Given the description of an element on the screen output the (x, y) to click on. 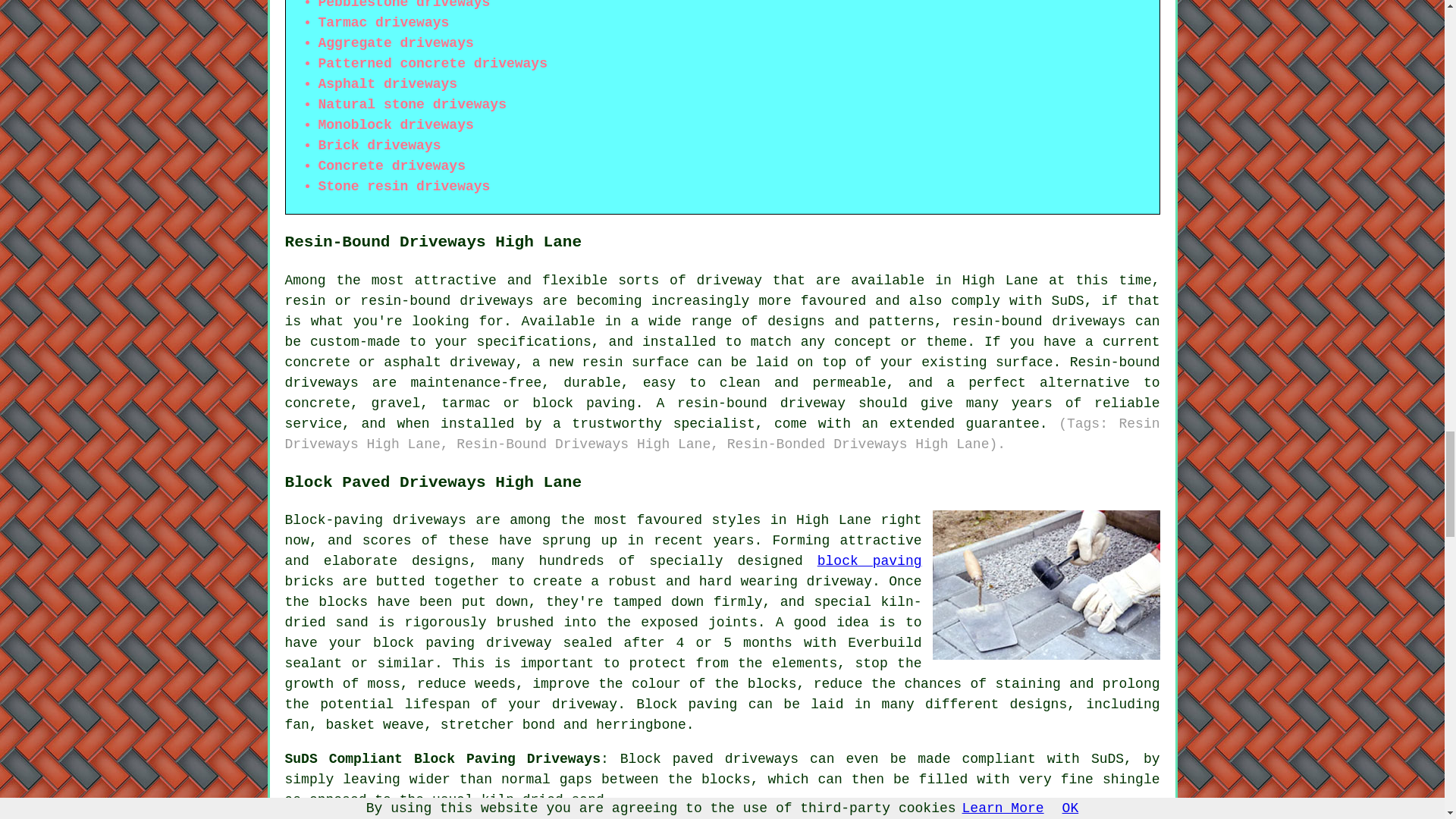
Block Paving Driveways High Lane UK (1046, 585)
